Given the description of an element on the screen output the (x, y) to click on. 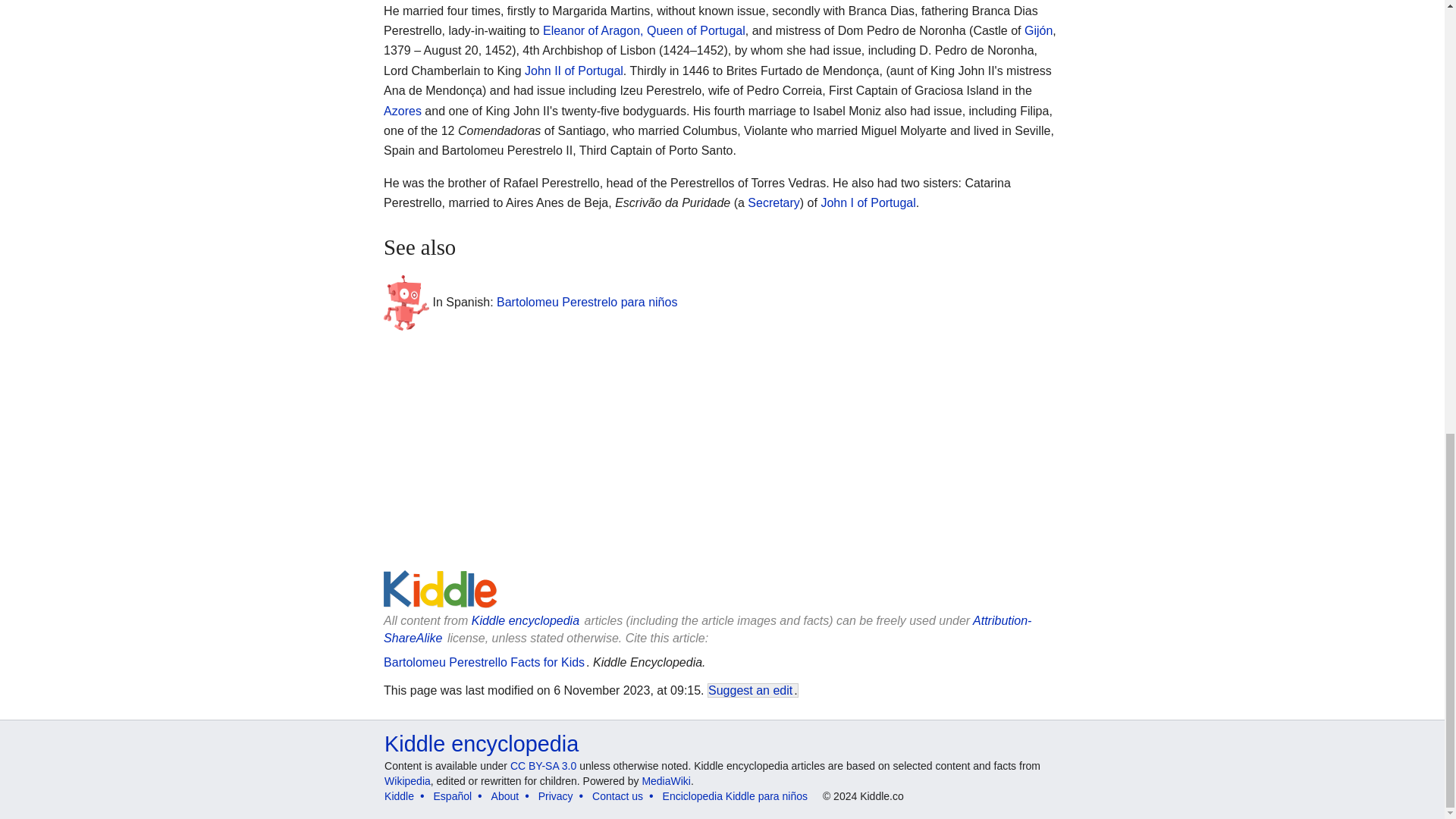
Eleanor of Aragon, Queen of Portugal (644, 30)
John II of Portugal (573, 70)
Secretary (773, 202)
Azores (403, 110)
